Given the description of an element on the screen output the (x, y) to click on. 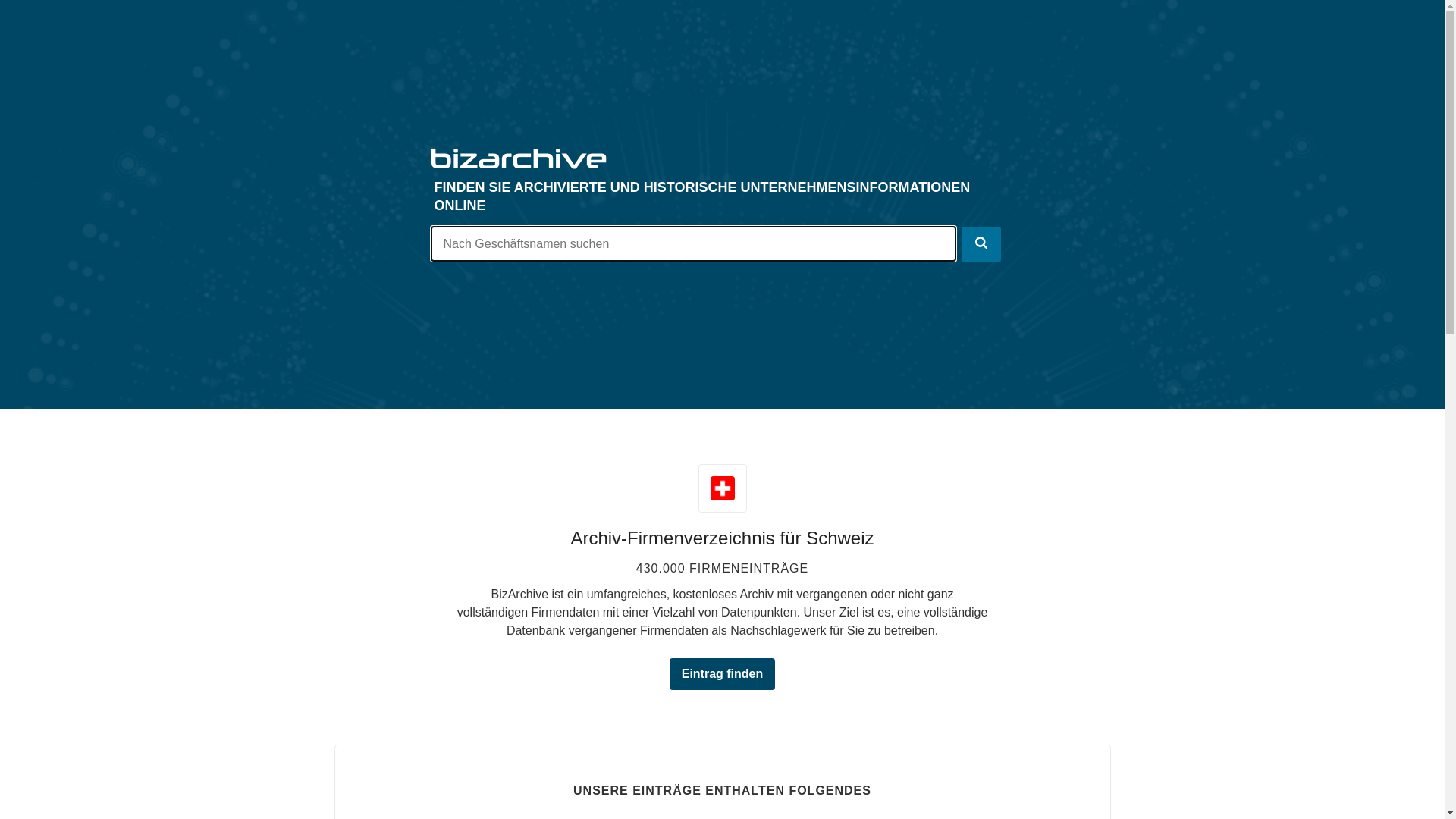
Eintrag finden Element type: text (722, 674)
